Given the description of an element on the screen output the (x, y) to click on. 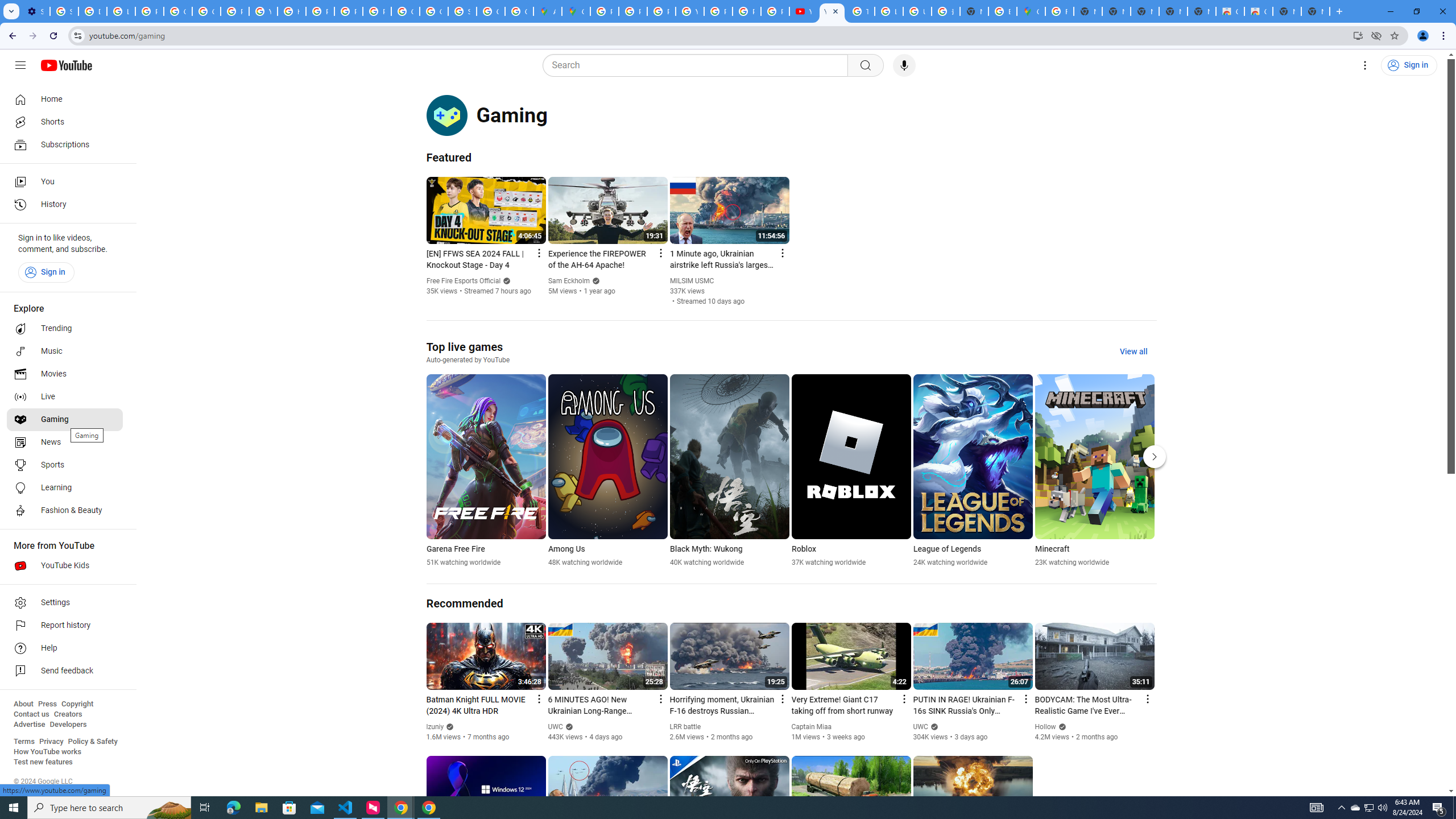
Privacy Help Center - Policies Help (320, 11)
Sign in - Google Accounts (461, 11)
Classic Blue - Chrome Web Store (1230, 11)
Guide (20, 65)
Home (64, 99)
Advertise (29, 724)
Black Myth: Wukong 40K watching worldwide (729, 470)
Live (64, 396)
Google Maps (575, 11)
